Given the description of an element on the screen output the (x, y) to click on. 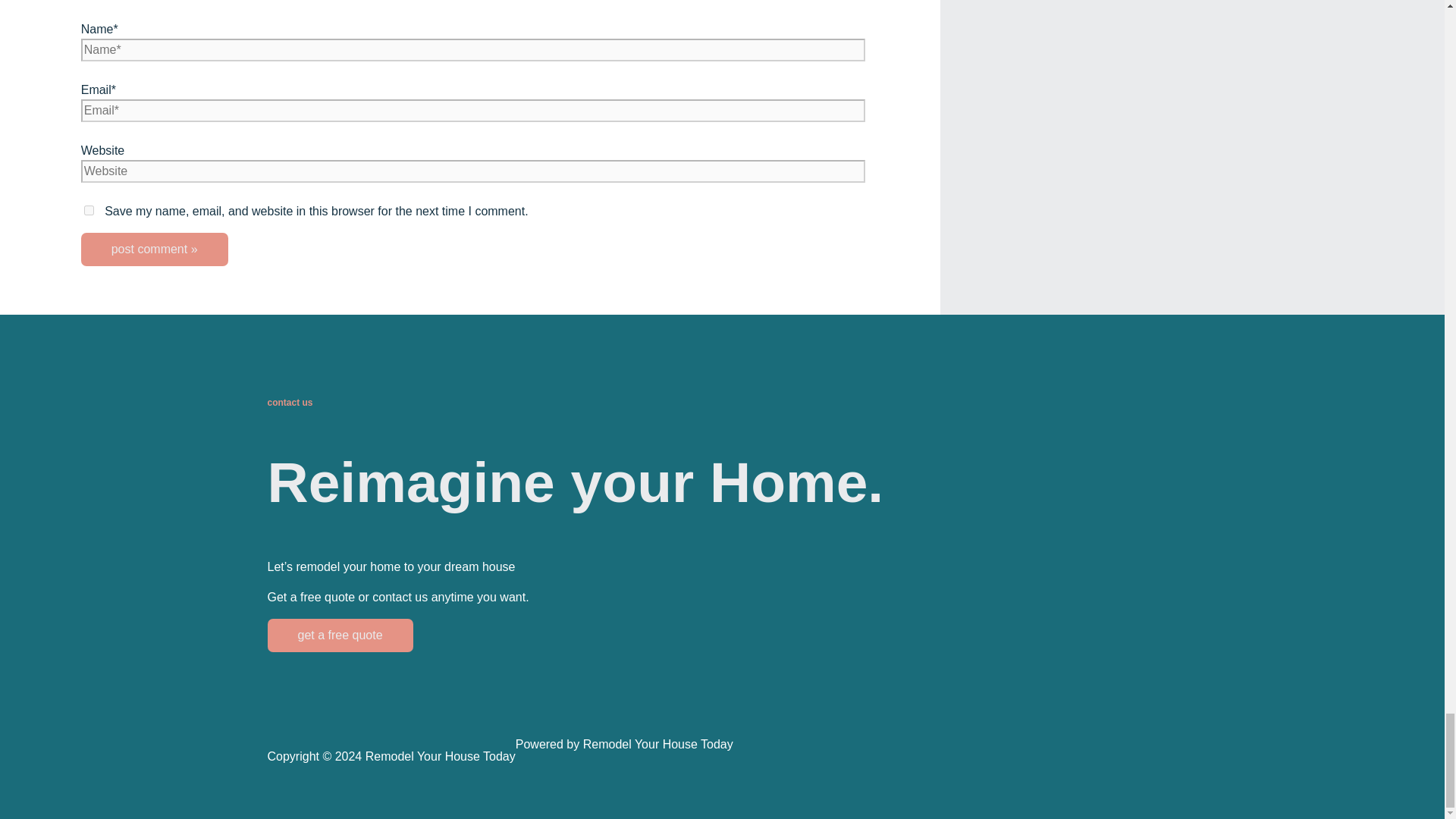
yes (89, 210)
